Given the description of an element on the screen output the (x, y) to click on. 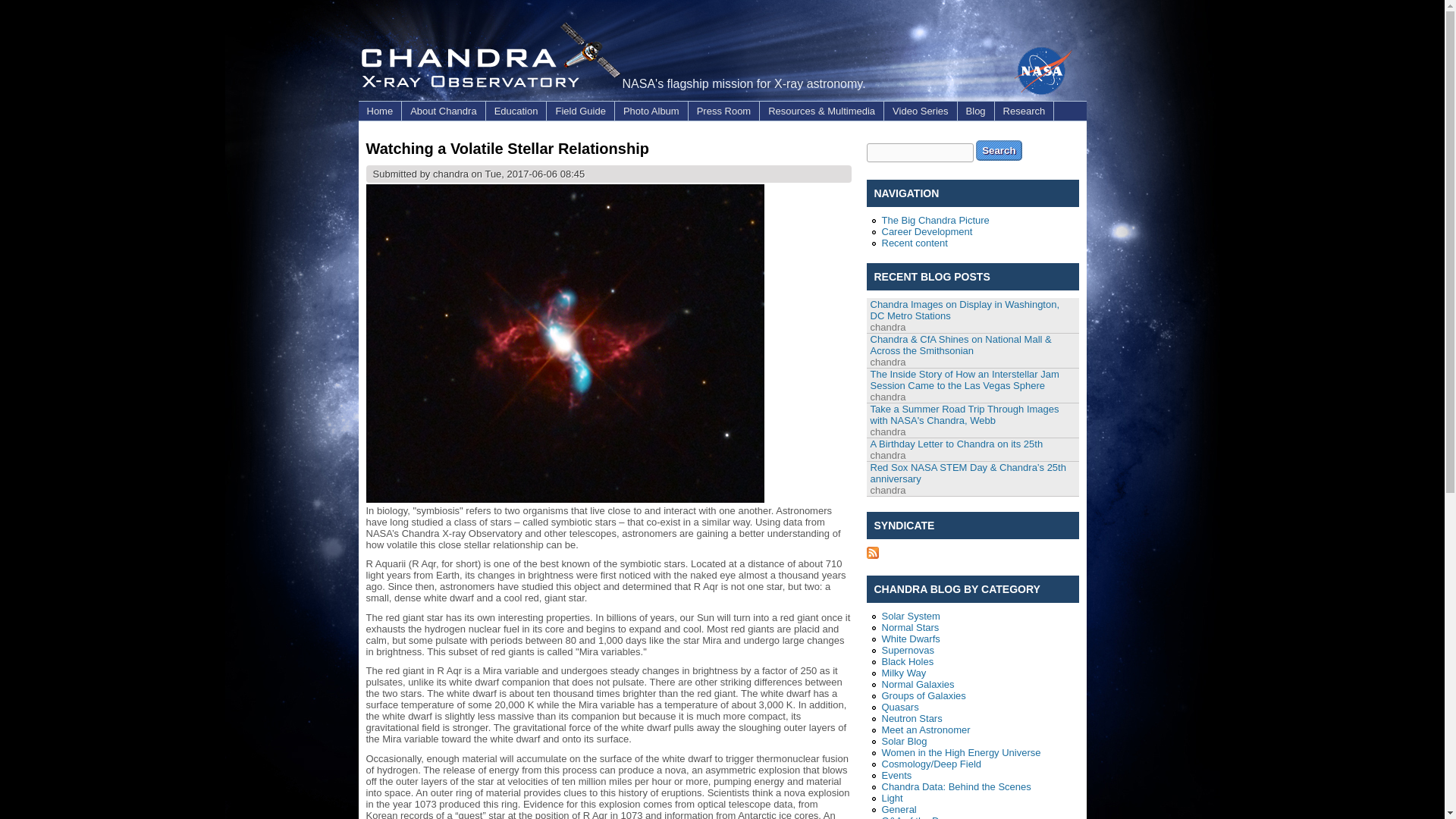
Career Development (926, 231)
Black Holes (906, 661)
Groups of Galaxies (922, 695)
Meet an Astronomer (924, 729)
A Birthday Letter to Chandra on its 25th (956, 443)
Press Room (724, 110)
Chandra Images on Display in Washington, DC Metro Stations (964, 309)
Video Series (919, 110)
Home (379, 110)
Blog (976, 110)
Education (516, 110)
About Chandra (442, 110)
Search (998, 150)
Normal Galaxies (916, 684)
